Given the description of an element on the screen output the (x, y) to click on. 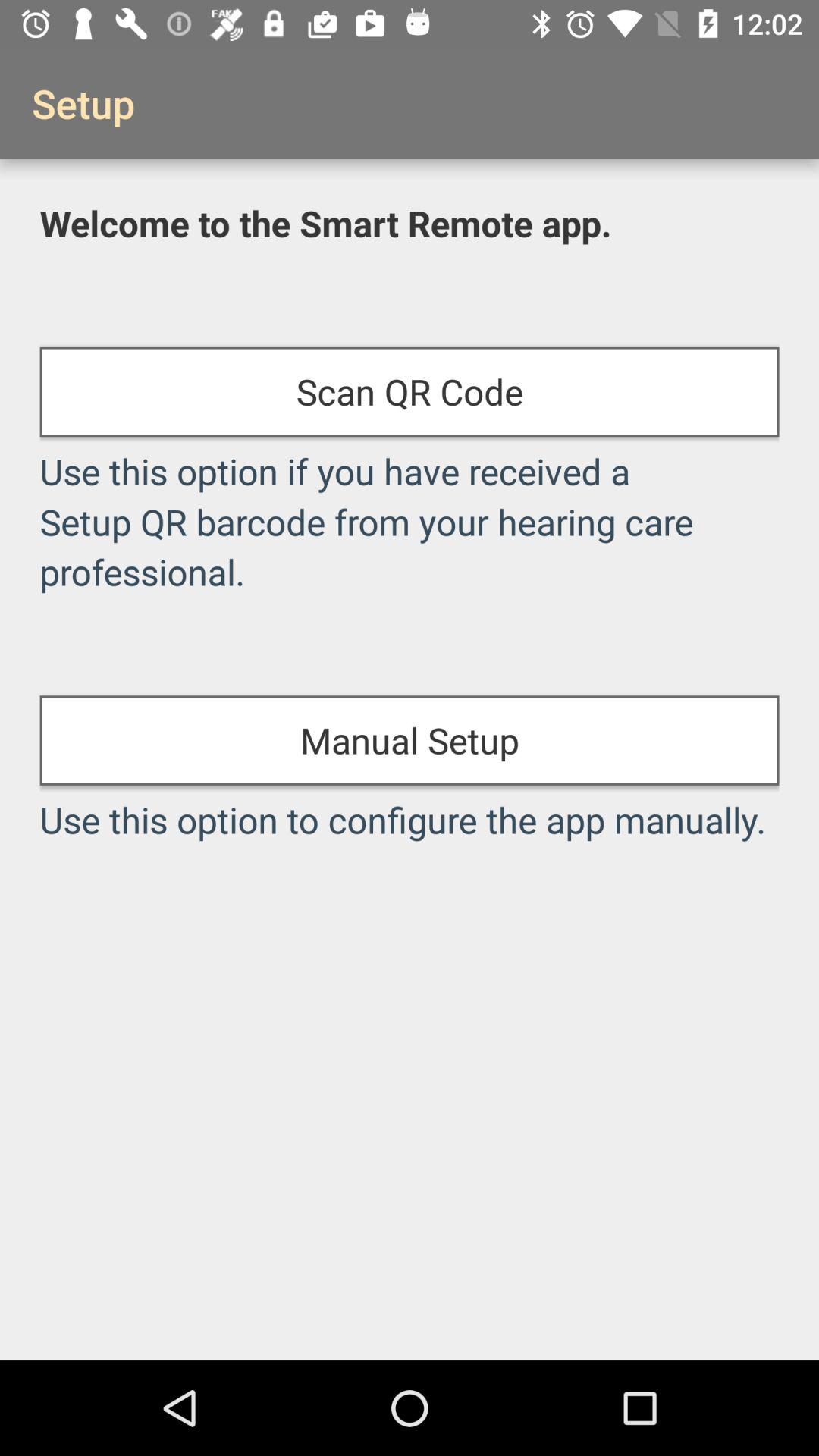
press the item above the use this option icon (409, 391)
